Given the description of an element on the screen output the (x, y) to click on. 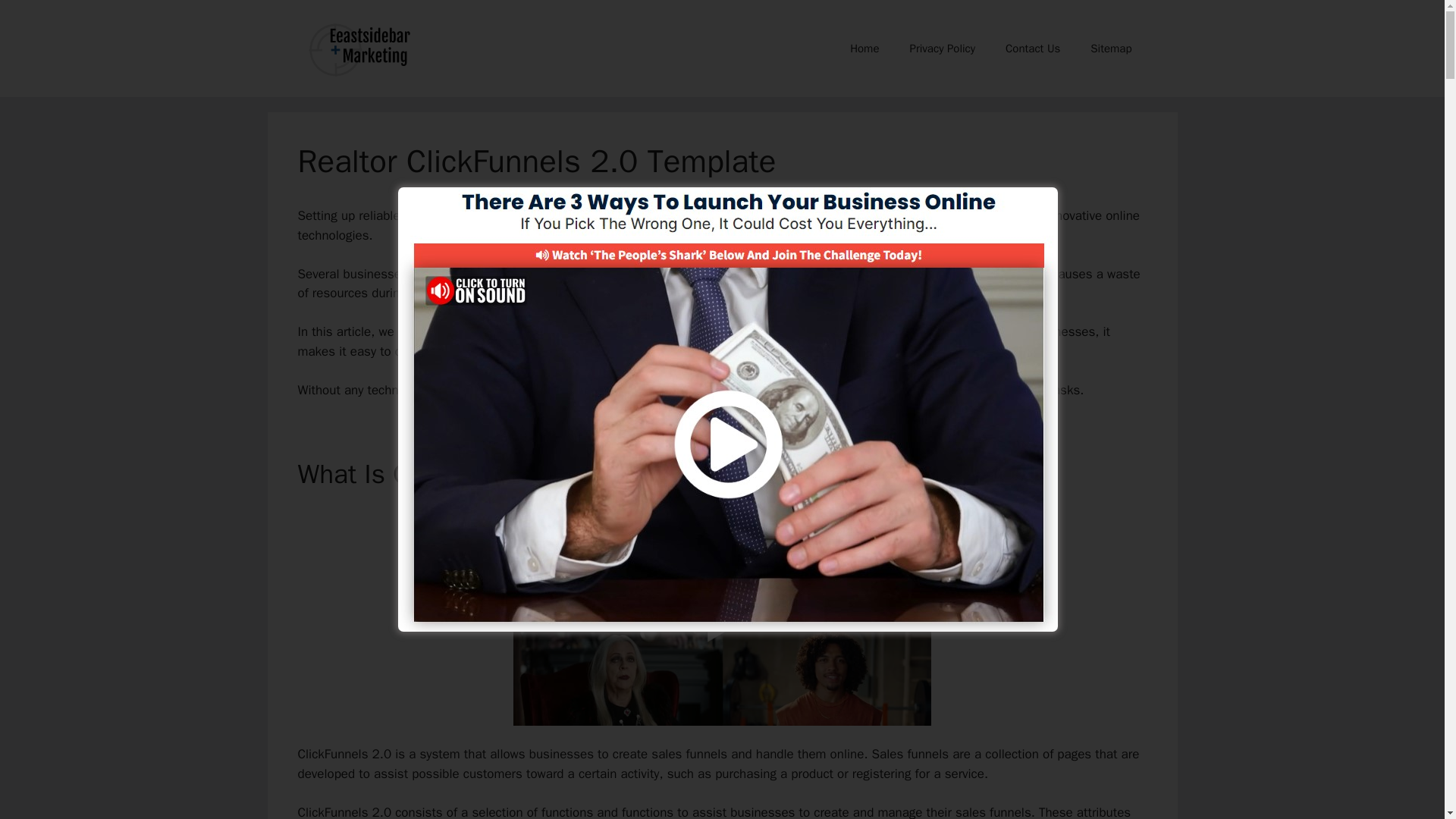
Contact Us (1032, 48)
Privacy Policy (941, 48)
Home (863, 48)
Sitemap (1111, 48)
